Given the description of an element on the screen output the (x, y) to click on. 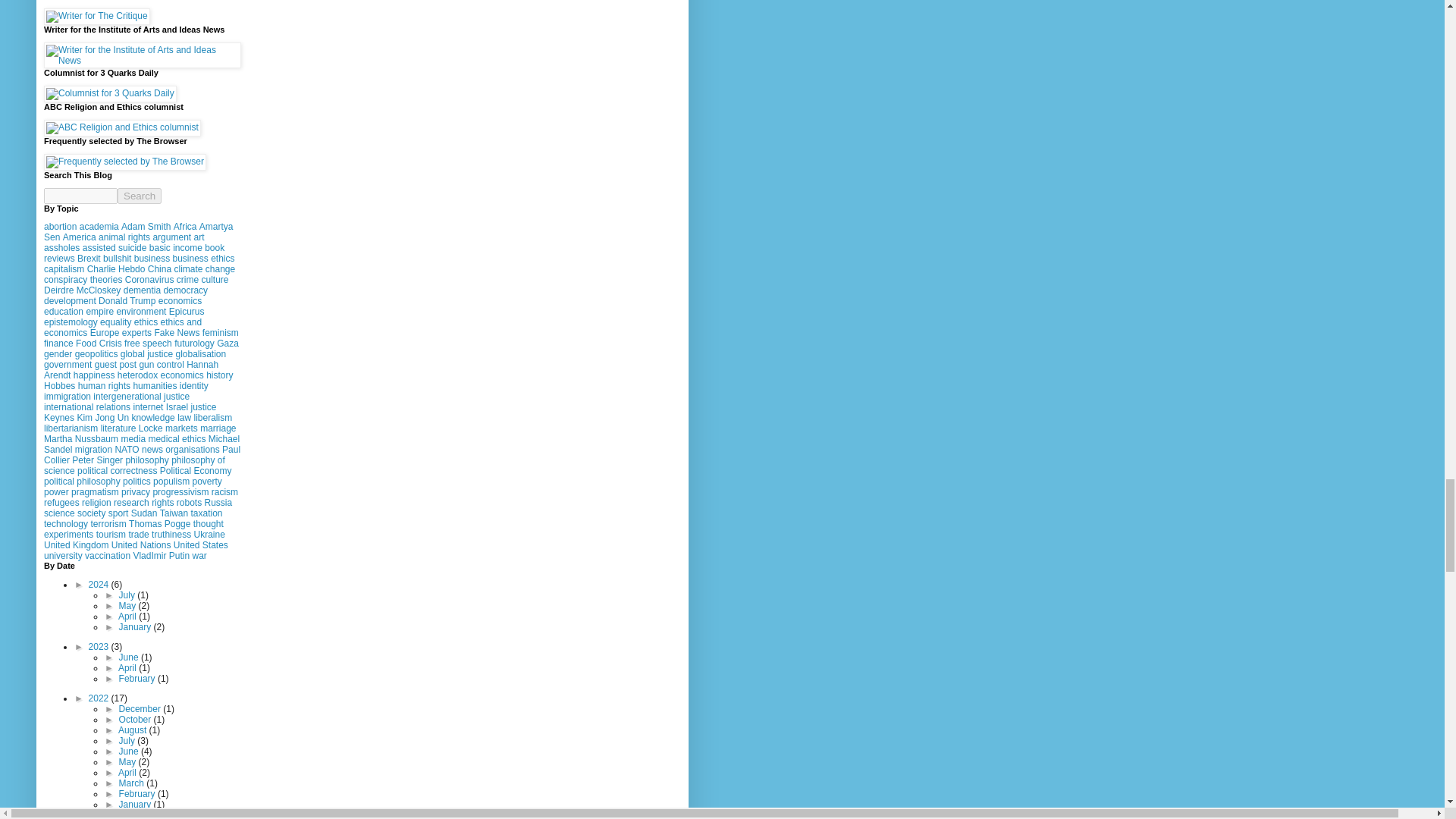
Search (139, 195)
search (139, 195)
Search (139, 195)
search (80, 195)
